Given the description of an element on the screen output the (x, y) to click on. 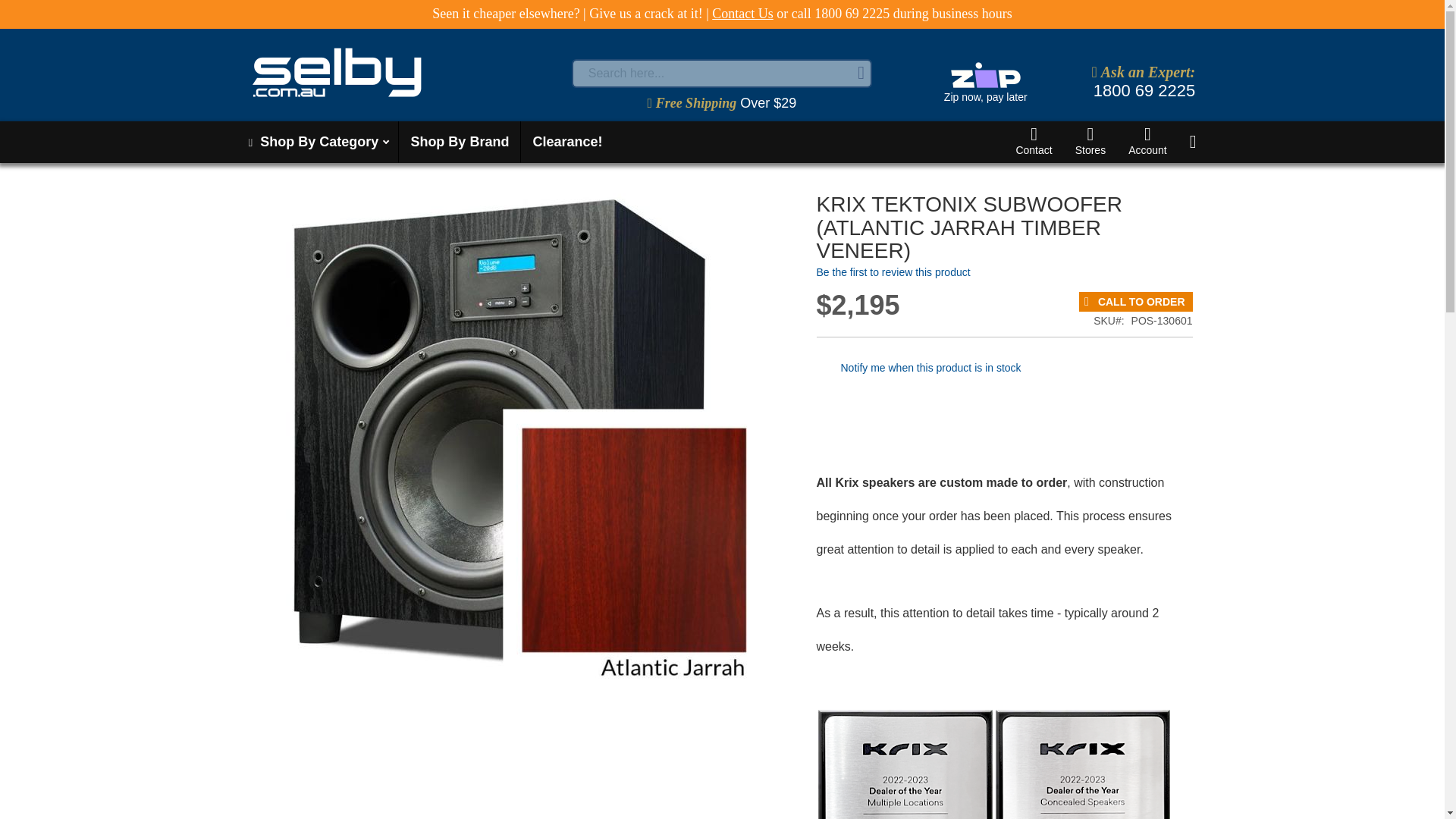
Selby Acoustics (337, 72)
Selby Acoustics (406, 72)
Shop By Category (316, 141)
Contact Us (742, 13)
Notify me when this product is in stock (930, 367)
Availability (1135, 301)
Zip now, pay later (984, 82)
Shop By Category (316, 141)
